Given the description of an element on the screen output the (x, y) to click on. 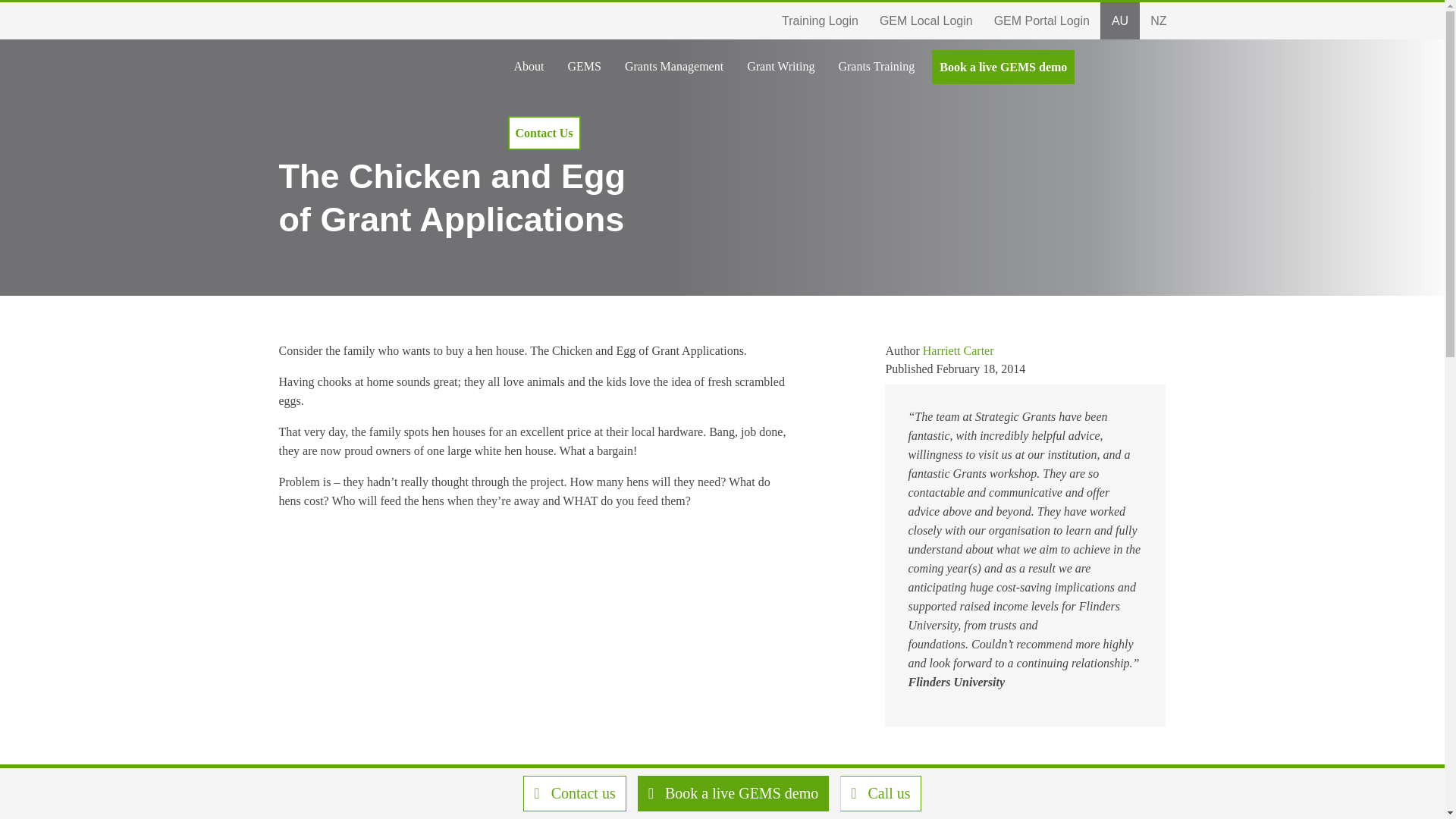
NZ (1158, 20)
Book a live GEMS demo (1002, 66)
GEM Local Login (721, 20)
Grants Management (926, 20)
GEMS (673, 66)
GEM Portal Login (583, 66)
Grants Management (1042, 20)
GEMS (673, 66)
Grant Writing (583, 66)
About (781, 66)
AU (529, 66)
Grants Training (1120, 20)
Training Login (875, 66)
Contact Us (820, 20)
